Given the description of an element on the screen output the (x, y) to click on. 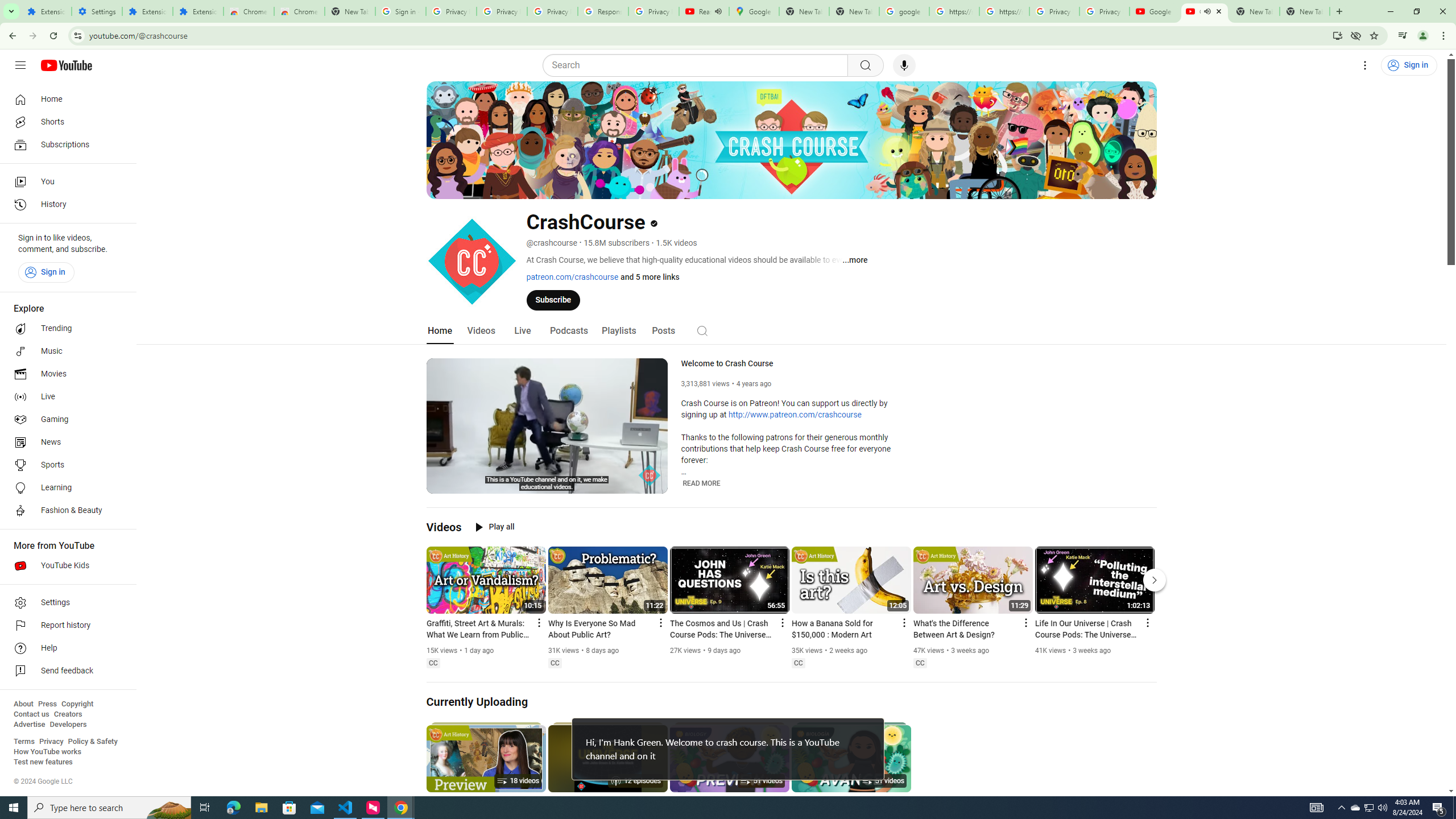
Currently Uploading (477, 701)
Advertise (29, 724)
History (64, 204)
Live (521, 330)
Extensions (197, 11)
Extensions (146, 11)
patreon.com/crashcourse (571, 276)
